Given the description of an element on the screen output the (x, y) to click on. 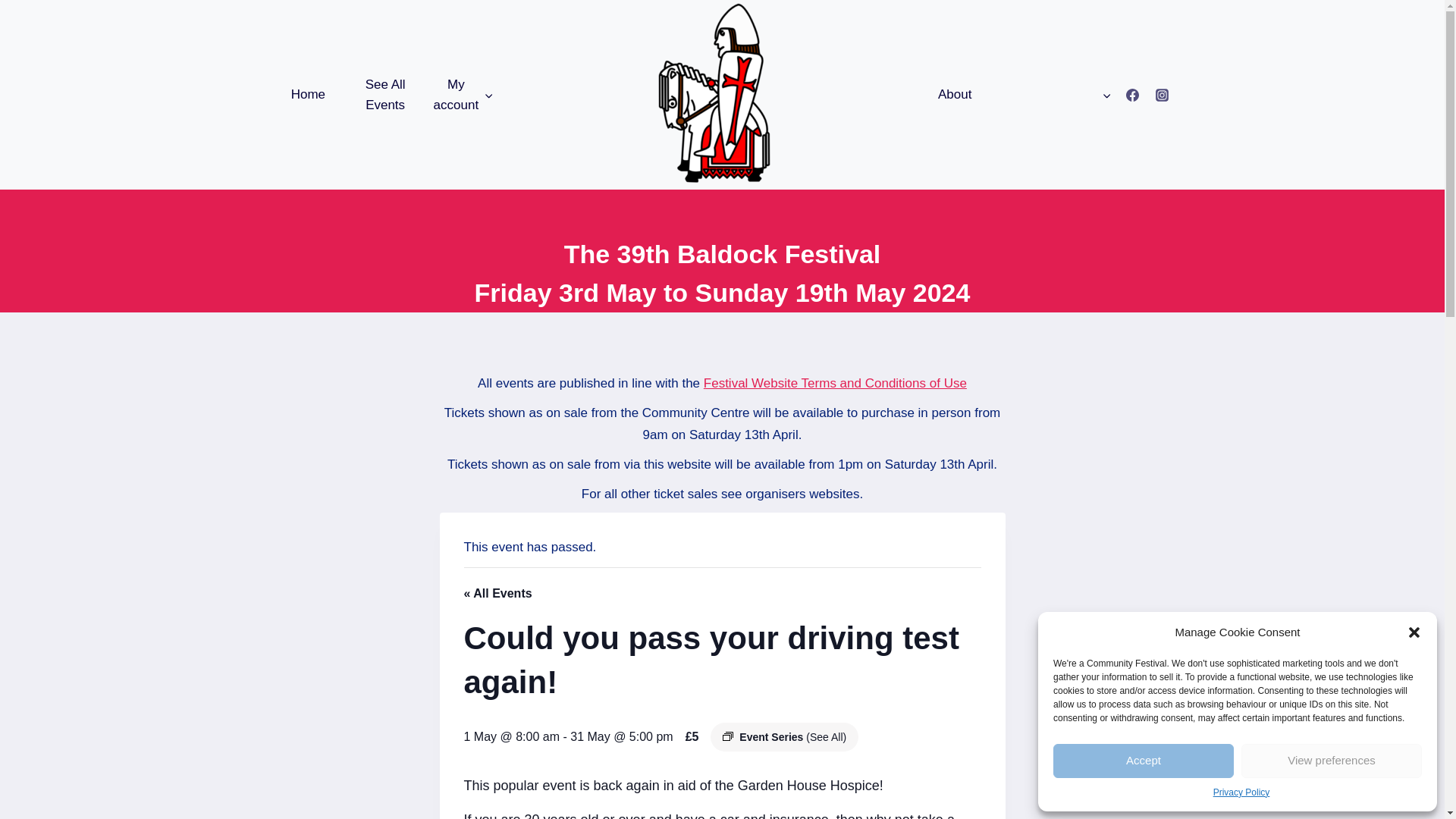
Privacy Policy (1240, 792)
Home (308, 94)
About (961, 94)
View preferences (1331, 760)
See All Events (384, 94)
My account (461, 94)
Accept (1142, 760)
Festival Website Terms and Conditions of Use (834, 382)
Event Series (727, 736)
